Given the description of an element on the screen output the (x, y) to click on. 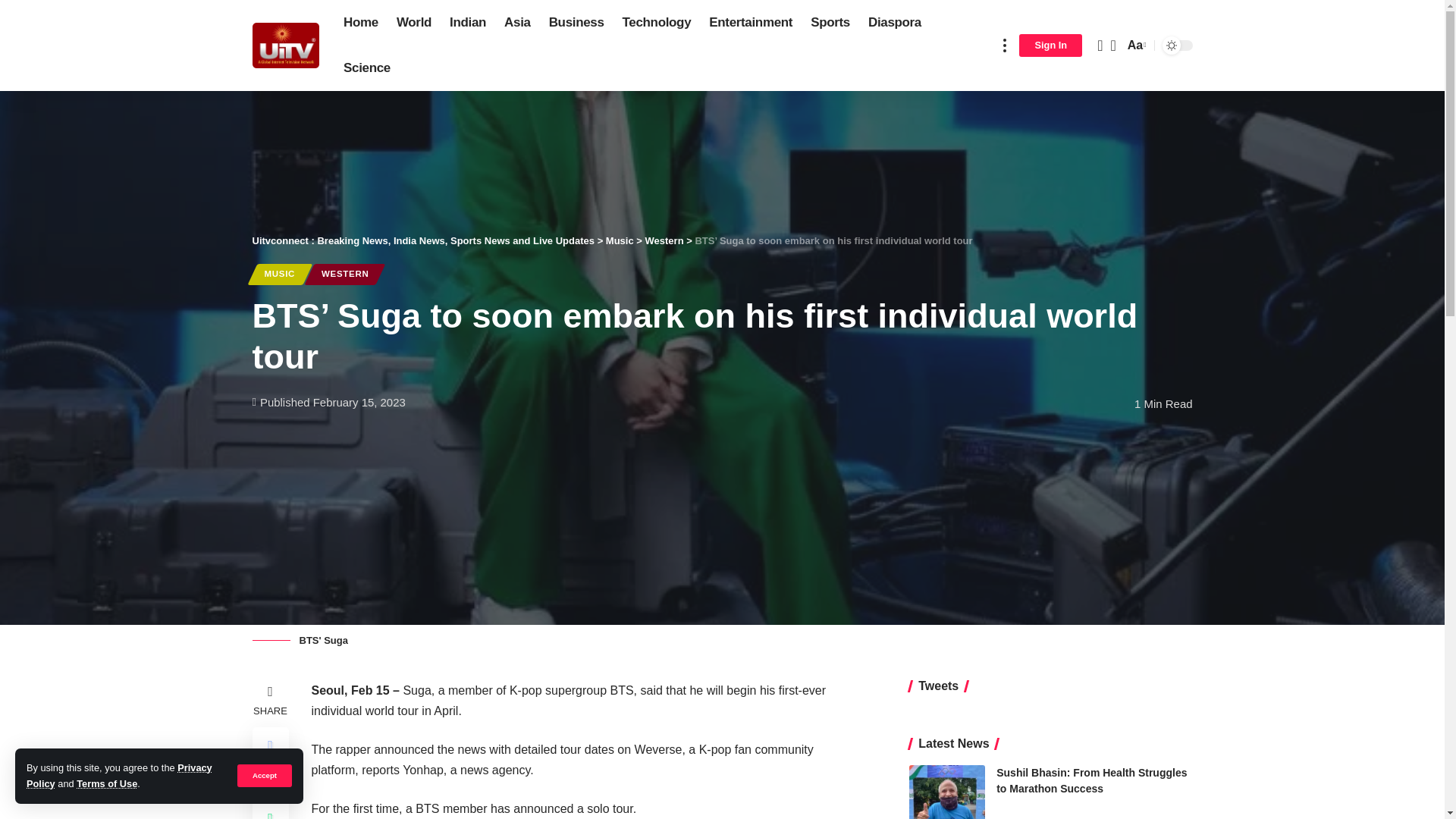
World (414, 22)
Entertainment (751, 22)
Indian (468, 22)
Science (366, 67)
Go to the Western Category archives. (664, 240)
Diaspora (894, 22)
Sports (830, 22)
Terms of Use (106, 783)
Go to the Music Category archives. (619, 240)
